Given the description of an element on the screen output the (x, y) to click on. 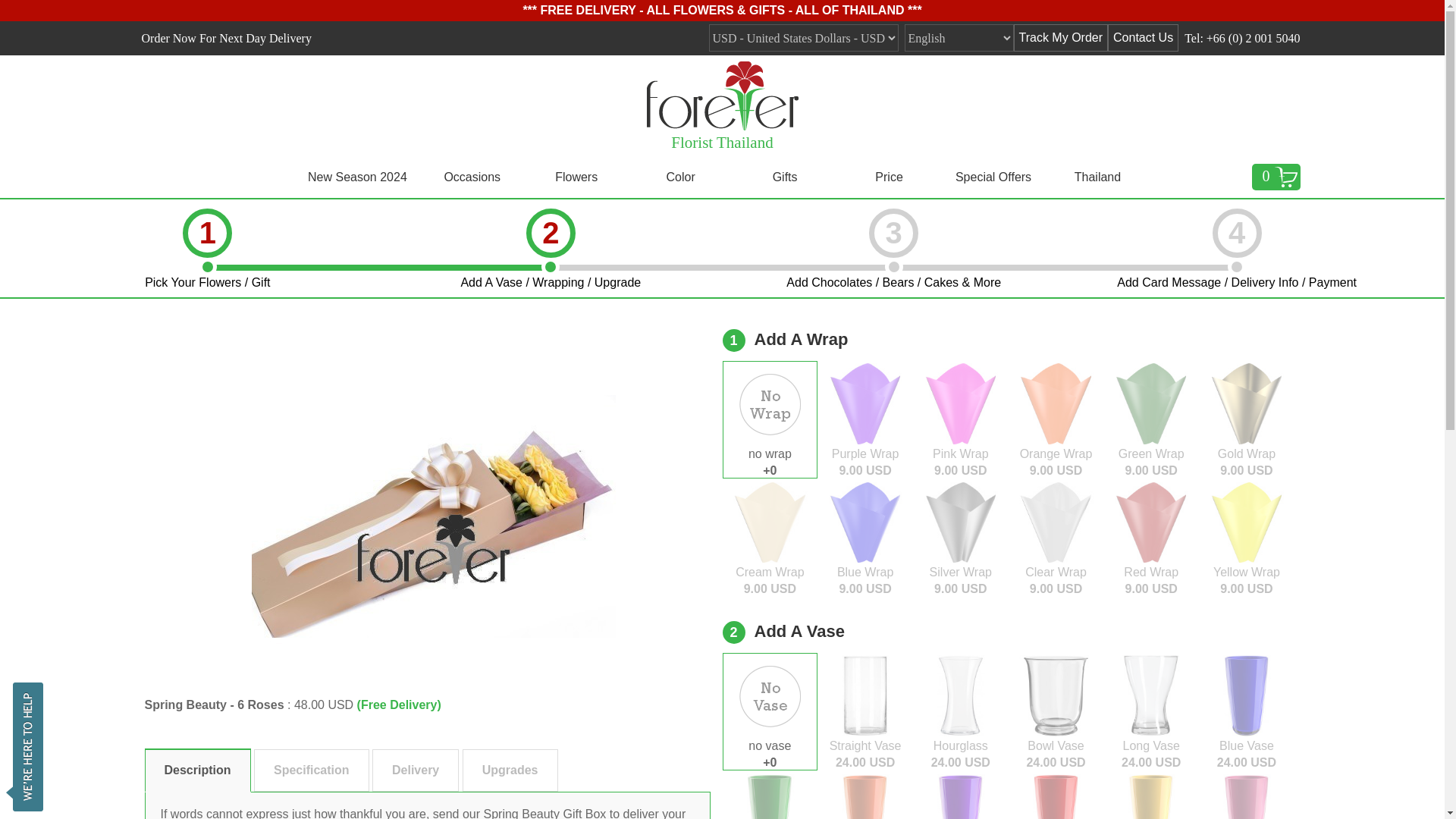
Track My Order (1060, 37)
Contact Us (1142, 37)
Occasions (471, 176)
Flowers (576, 176)
New Season 2024 (356, 176)
Florist Thailand (721, 134)
